Given the description of an element on the screen output the (x, y) to click on. 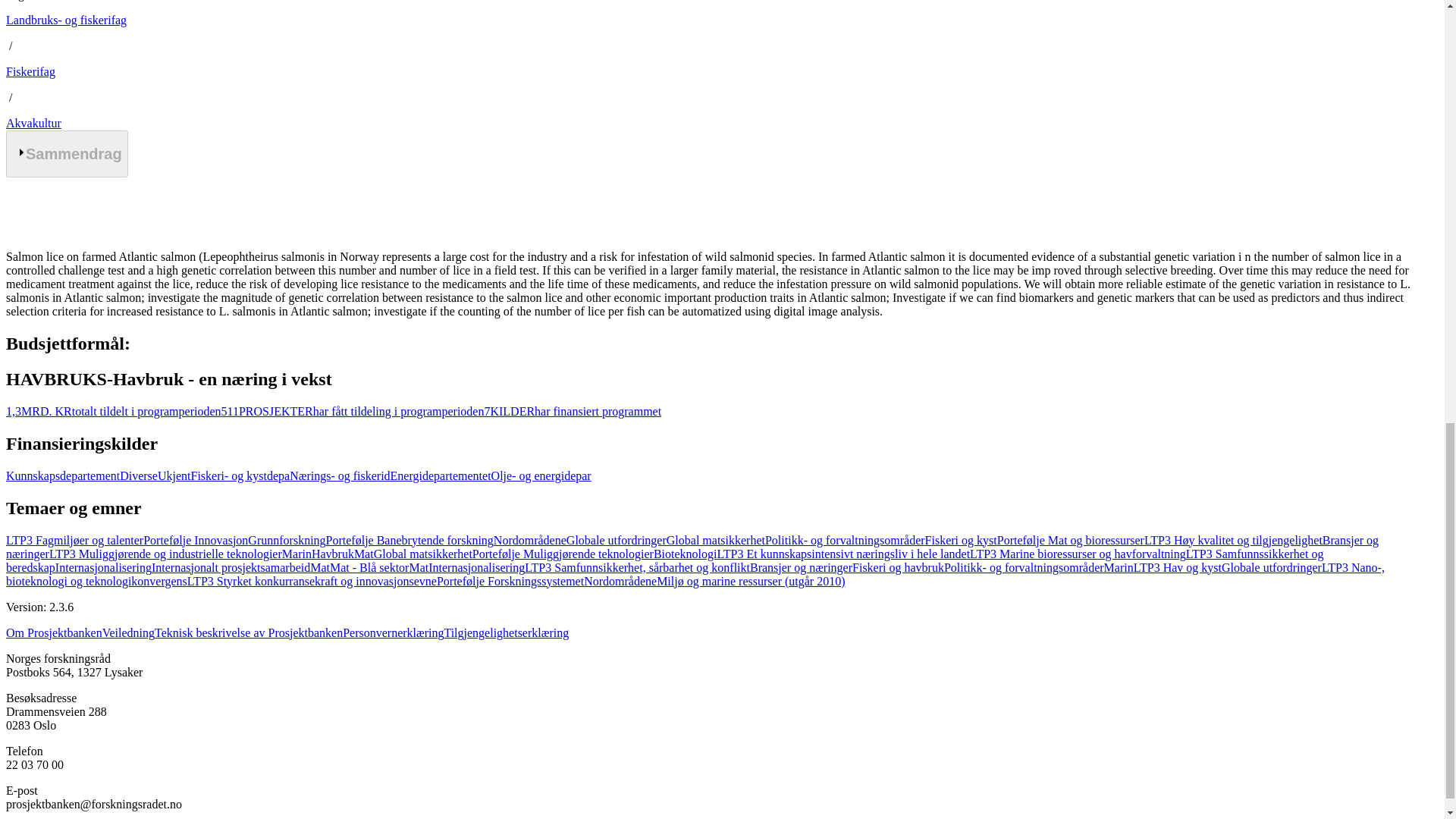
Fiskeri- og kystdepa (239, 475)
7KILDERhar finansiert programmet (572, 410)
Sammendrag (66, 153)
Kunnskapsdepartement (62, 475)
Landbruks- og fiskerifag (65, 19)
Ukjent (173, 475)
Diverse (138, 475)
1,3MRD. KRtotalt tildelt i programperioden (113, 410)
Fiskerifag (30, 71)
Energidepartementet (441, 475)
